Given the description of an element on the screen output the (x, y) to click on. 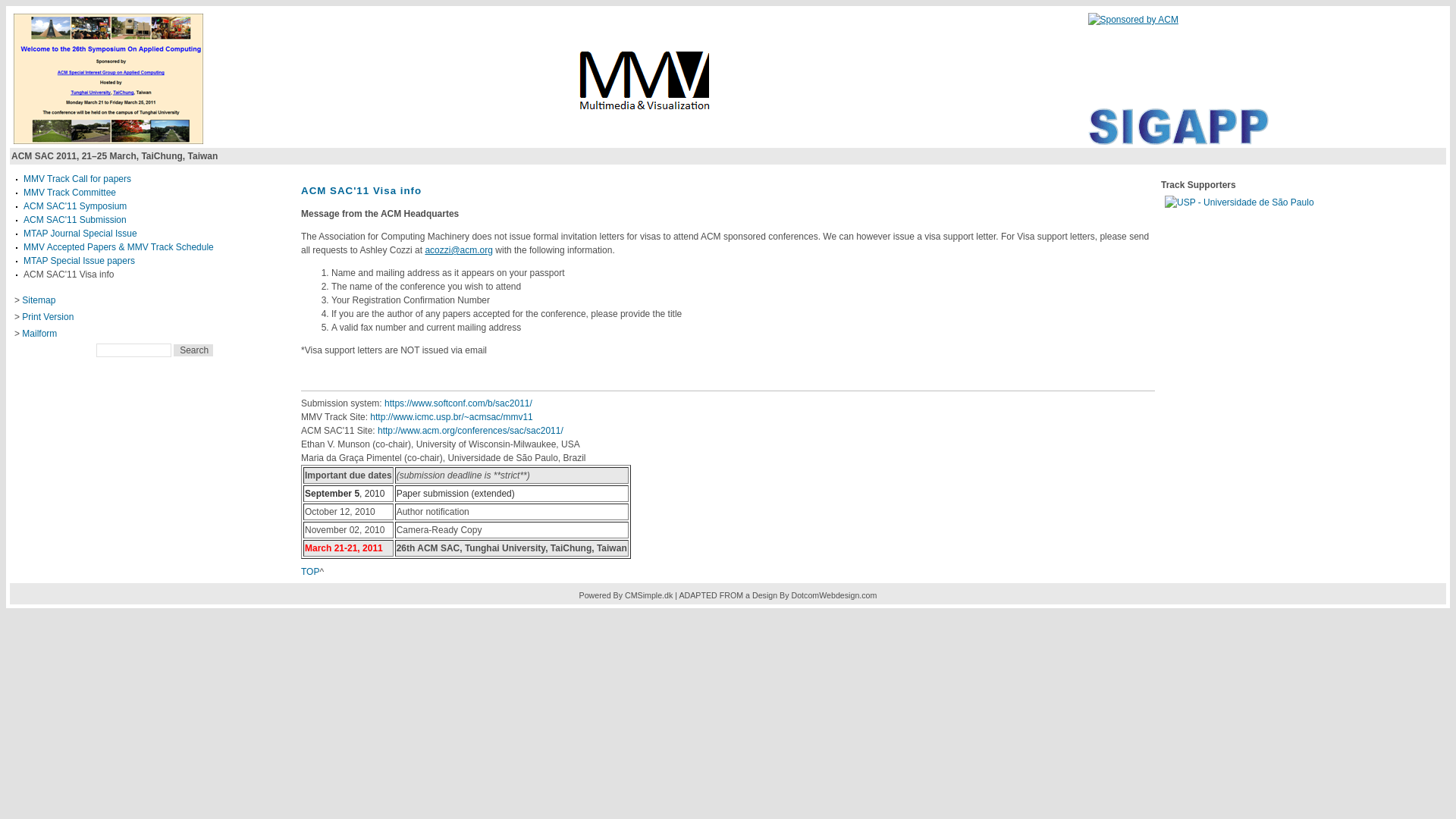
SIGAPP Element type: hover (1177, 141)
http://www.acm.org/conferences/sac/sac2011/ Element type: text (470, 430)
acozzi@acm.org Element type: text (458, 249)
https://www.softconf.com/b/sac2011/ Element type: text (458, 403)
MMV Accepted Papers & MMV Track Schedule Element type: text (118, 246)
MTAP Journal Special Issue Element type: text (80, 233)
ACM SAC'11 MMV Track Element type: hover (645, 117)
ACM SAC'11 Submission Element type: text (74, 219)
http://www.icmc.usp.br/~acmsac/mmv11 Element type: text (451, 416)
Powered By CMSimple.dk Element type: text (626, 594)
Print Version Element type: text (47, 316)
MMV Track Call for papers Element type: text (77, 178)
Sitemap Element type: text (38, 299)
ACM SAC'11 Symposium Element type: text (74, 205)
Login Element type: text (25, 374)
Mailform Element type: text (38, 333)
MTAP Special Issue papers Element type: text (78, 260)
| ADAPTED FROM a Design By DotcomWebdesign.com Element type: text (775, 594)
ACM Element type: hover (1132, 19)
MMV Track Committee Element type: text (69, 192)
TOP Element type: text (310, 571)
The ACM Symposium on Applied Computing Element type: hover (107, 141)
Search Element type: text (193, 350)
